Given the description of an element on the screen output the (x, y) to click on. 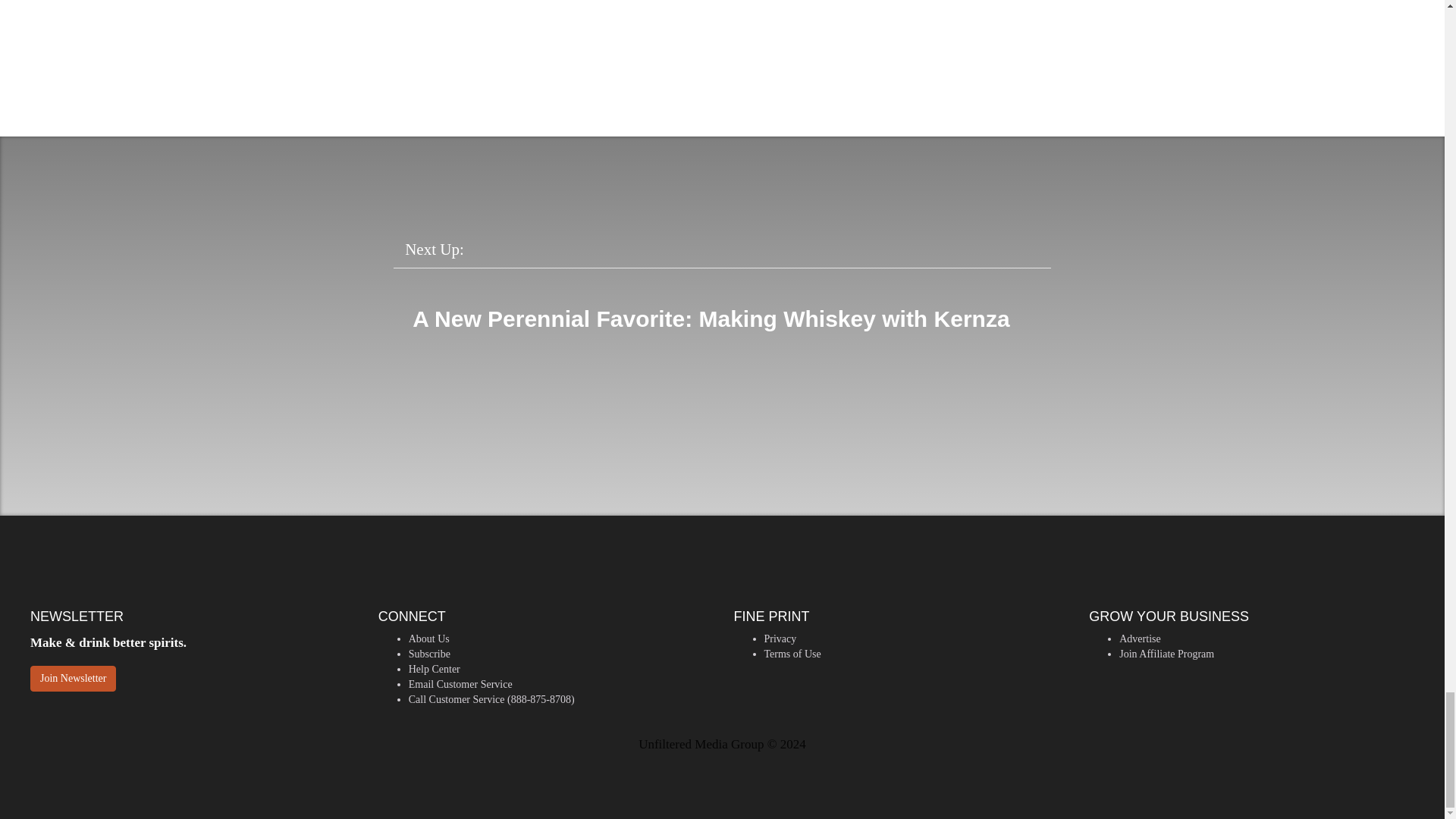
About Us (429, 638)
Subscribe (429, 654)
Join Newsletter (73, 678)
Email Customer Service (460, 684)
Help Center (434, 668)
